Given the description of an element on the screen output the (x, y) to click on. 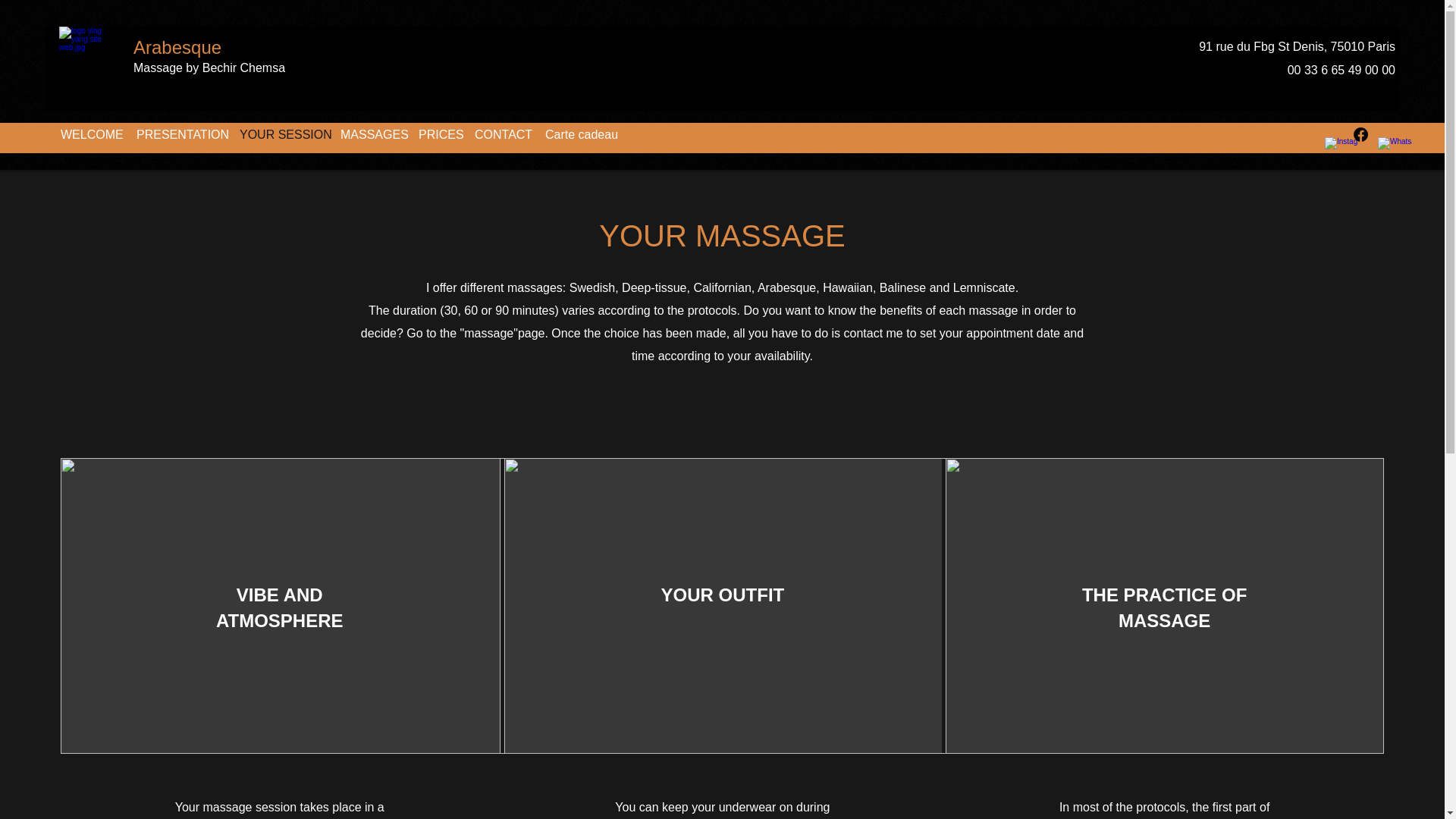
PRICES (438, 134)
PRESENTATION (180, 134)
WELCOME (90, 134)
Arabesque (177, 46)
MASSAGES (371, 134)
Carte cadeau (575, 134)
CONTACT (502, 134)
YOUR SESSION (282, 134)
